Given the description of an element on the screen output the (x, y) to click on. 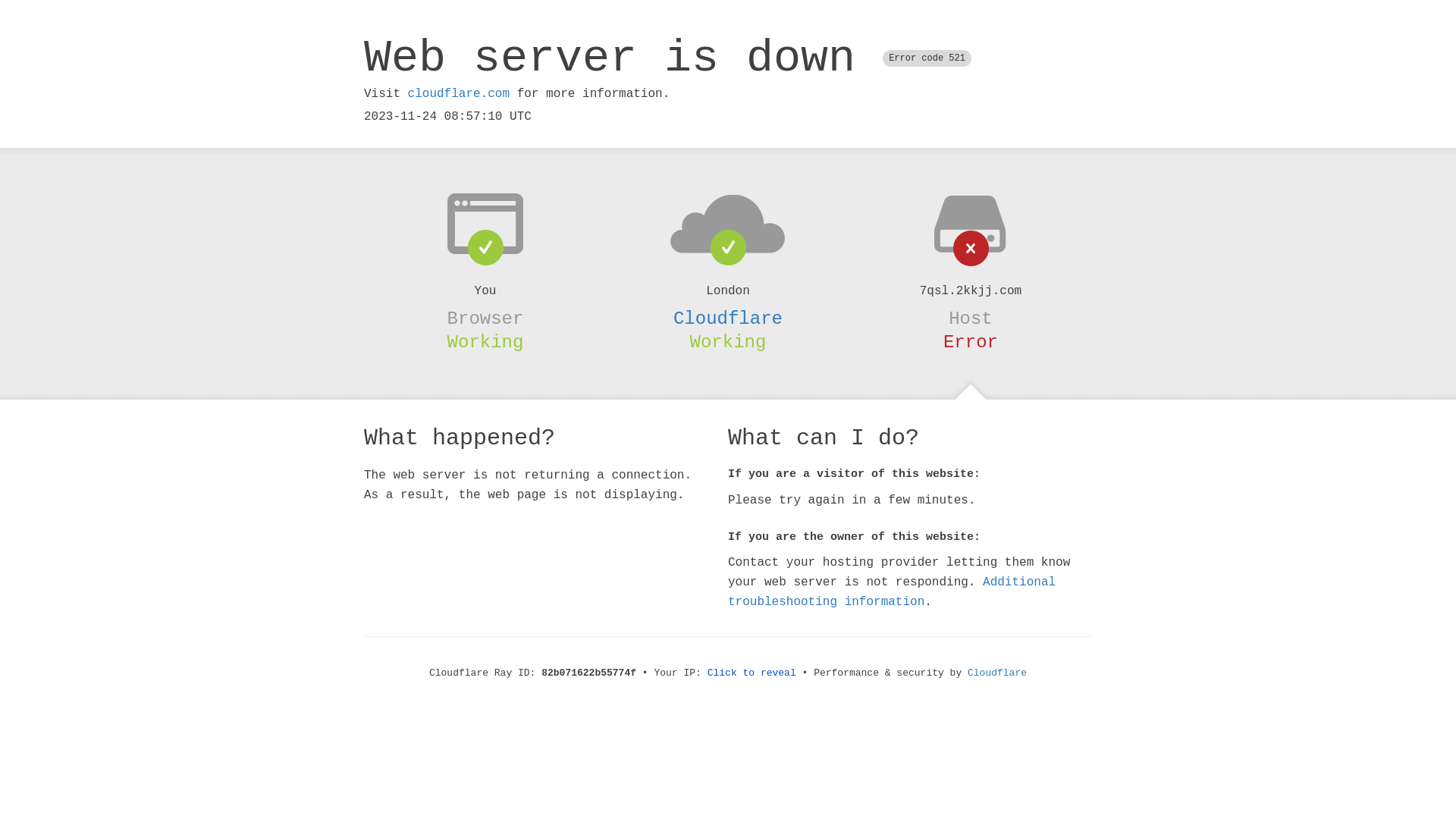
Click to reveal Element type: text (751, 672)
Additional troubleshooting information Element type: text (891, 591)
Cloudflare Element type: text (727, 318)
cloudflare.com Element type: text (458, 93)
Cloudflare Element type: text (996, 672)
